Given the description of an element on the screen output the (x, y) to click on. 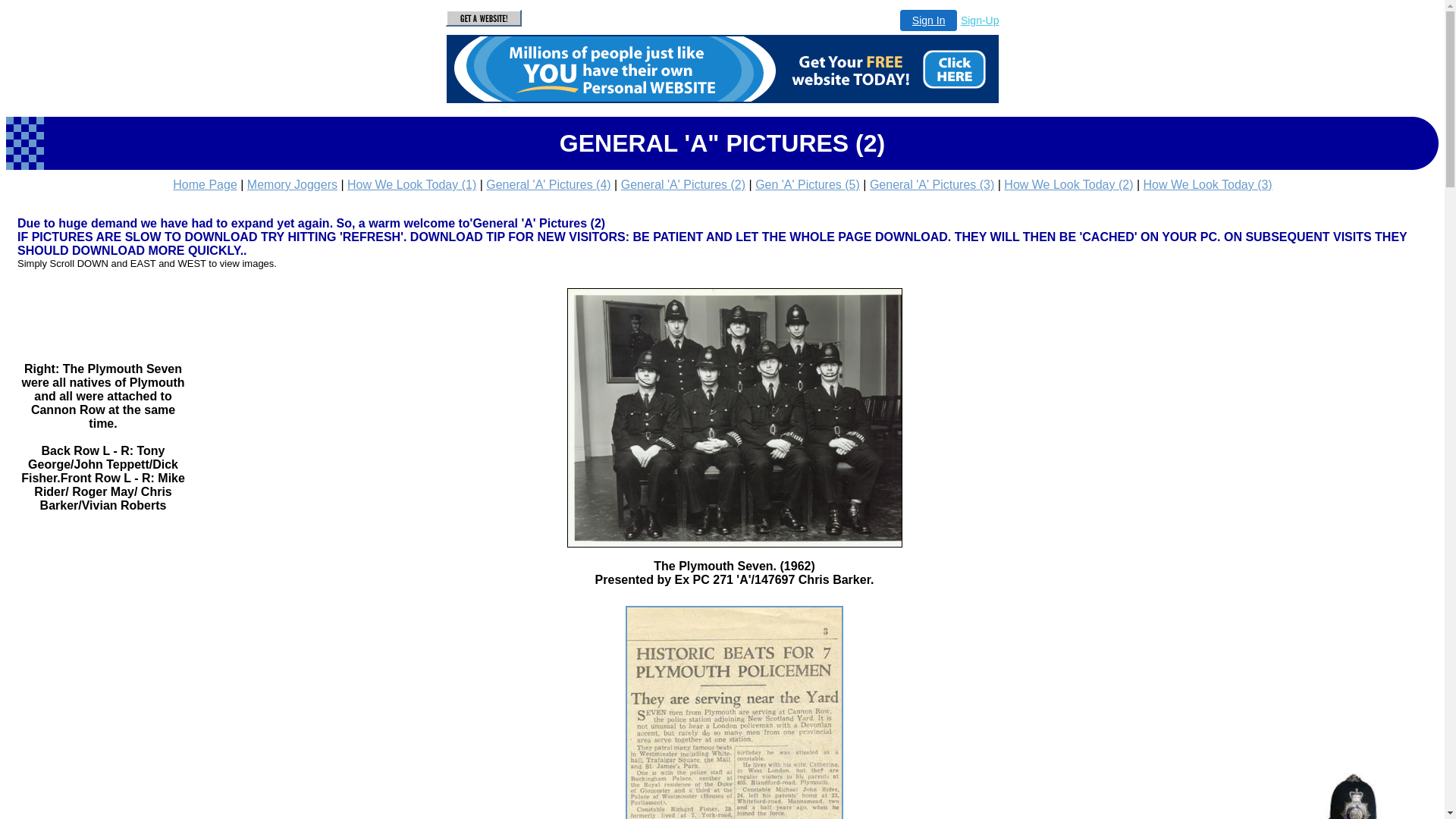
Gen 'A' Pictures (5) Element type: text (807, 184)
General 'A' Pictures (4) Element type: text (548, 184)
General 'A' Pictures (3) Element type: text (931, 184)
Sign-Up Element type: text (979, 20)
Home Page Element type: text (204, 184)
Memory Joggers Element type: text (292, 184)
How We Look Today (2) Element type: text (1068, 184)
Sign In Element type: text (928, 20)
How We Look Today (3) Element type: text (1207, 184)
General 'A' Pictures (2) Element type: text (683, 184)
How We Look Today (1) Element type: text (411, 184)
